Given the description of an element on the screen output the (x, y) to click on. 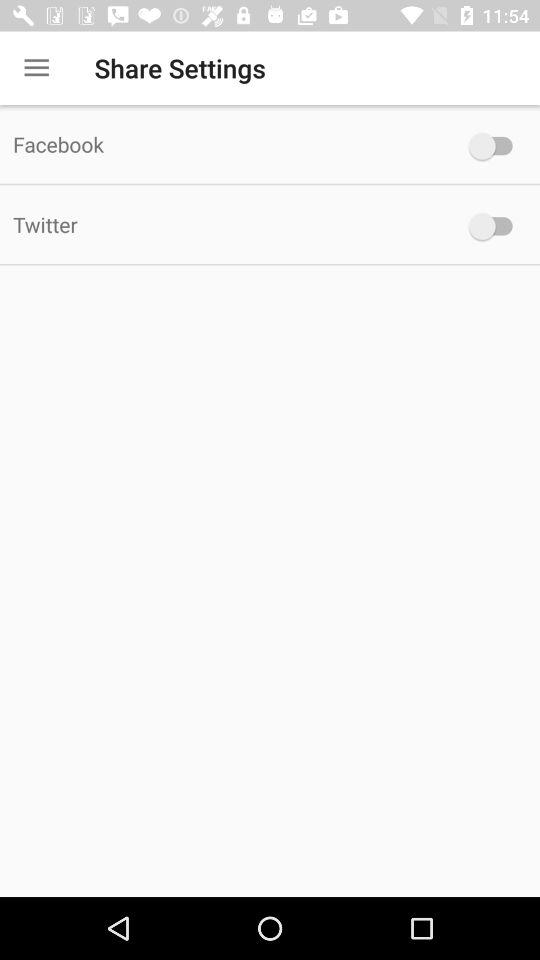
tap twitter icon (225, 224)
